Given the description of an element on the screen output the (x, y) to click on. 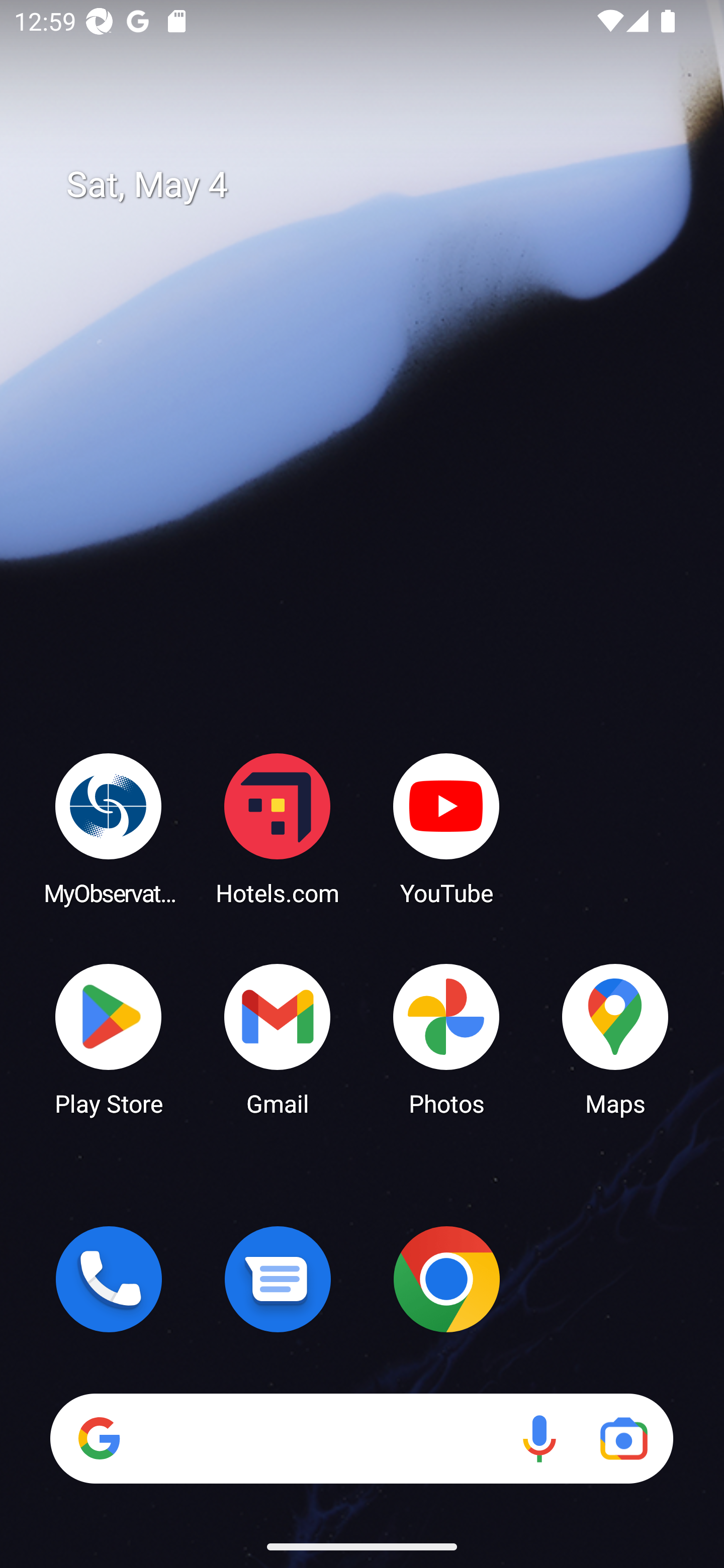
Sat, May 4 (375, 184)
MyObservatory (108, 828)
Hotels.com (277, 828)
YouTube (445, 828)
Play Store (108, 1038)
Gmail (277, 1038)
Photos (445, 1038)
Maps (615, 1038)
Phone (108, 1279)
Messages (277, 1279)
Chrome (446, 1279)
Search Voice search Google Lens (361, 1438)
Voice search (539, 1438)
Google Lens (623, 1438)
